Given the description of an element on the screen output the (x, y) to click on. 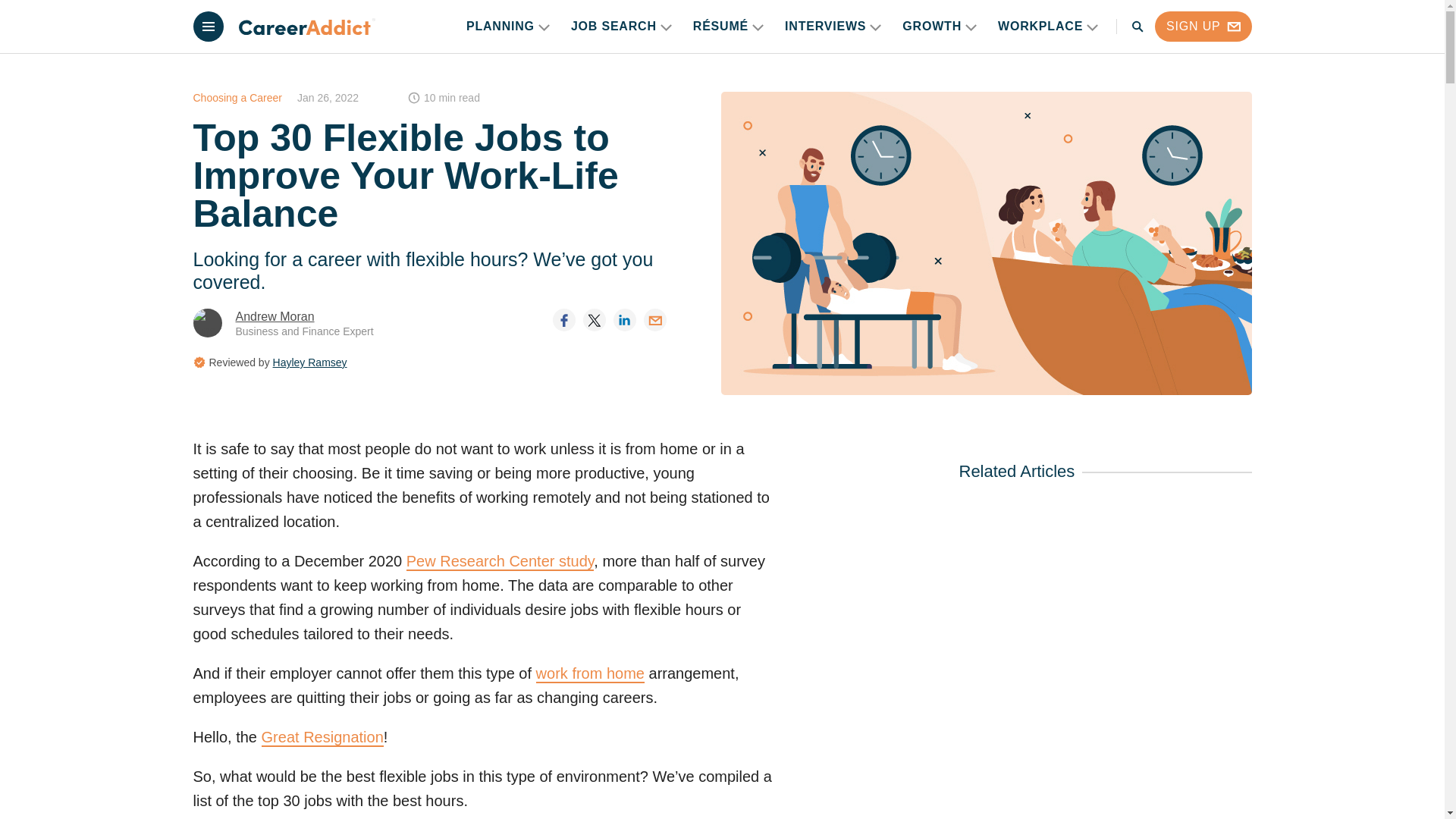
JOB SEARCH (620, 26)
GROWTH (939, 26)
INTERVIEWS (832, 26)
PLANNING (507, 26)
